Given the description of an element on the screen output the (x, y) to click on. 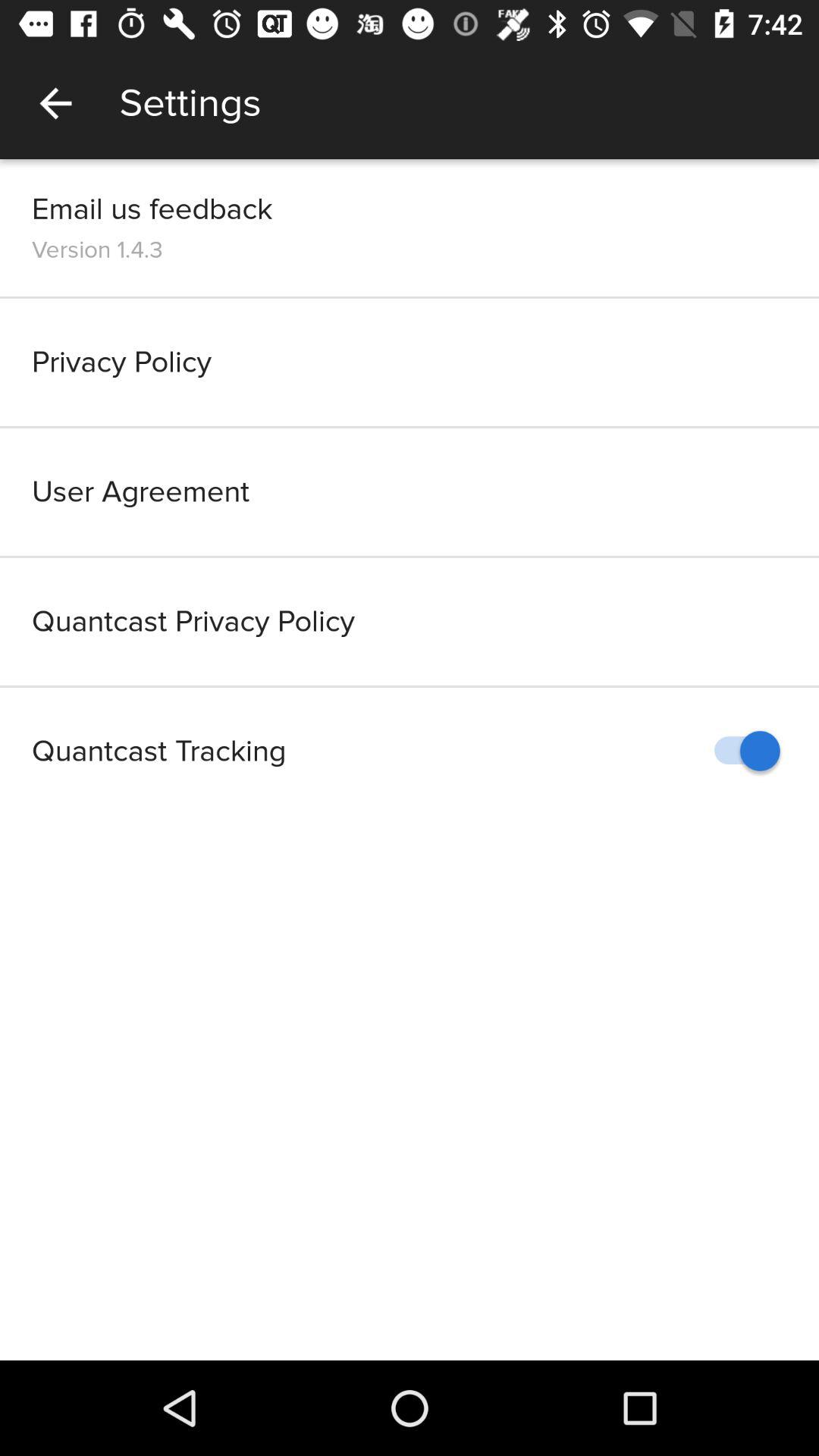
launch icon above the quantcast privacy policy icon (409, 491)
